Given the description of an element on the screen output the (x, y) to click on. 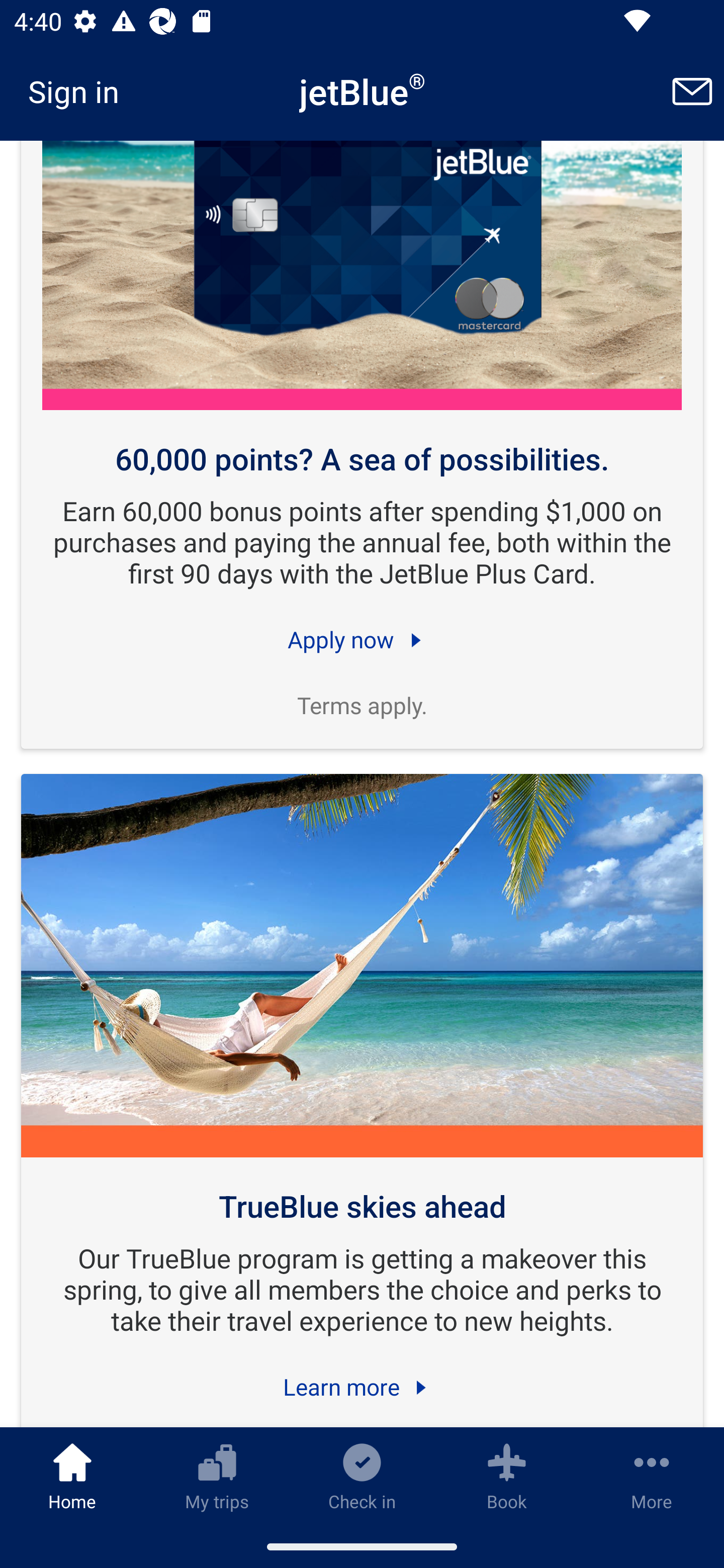
Sign in (80, 91)
Apply now (361, 640)
Learn more (361, 1386)
My trips (216, 1475)
Check in (361, 1475)
Book (506, 1475)
More (651, 1475)
